Given the description of an element on the screen output the (x, y) to click on. 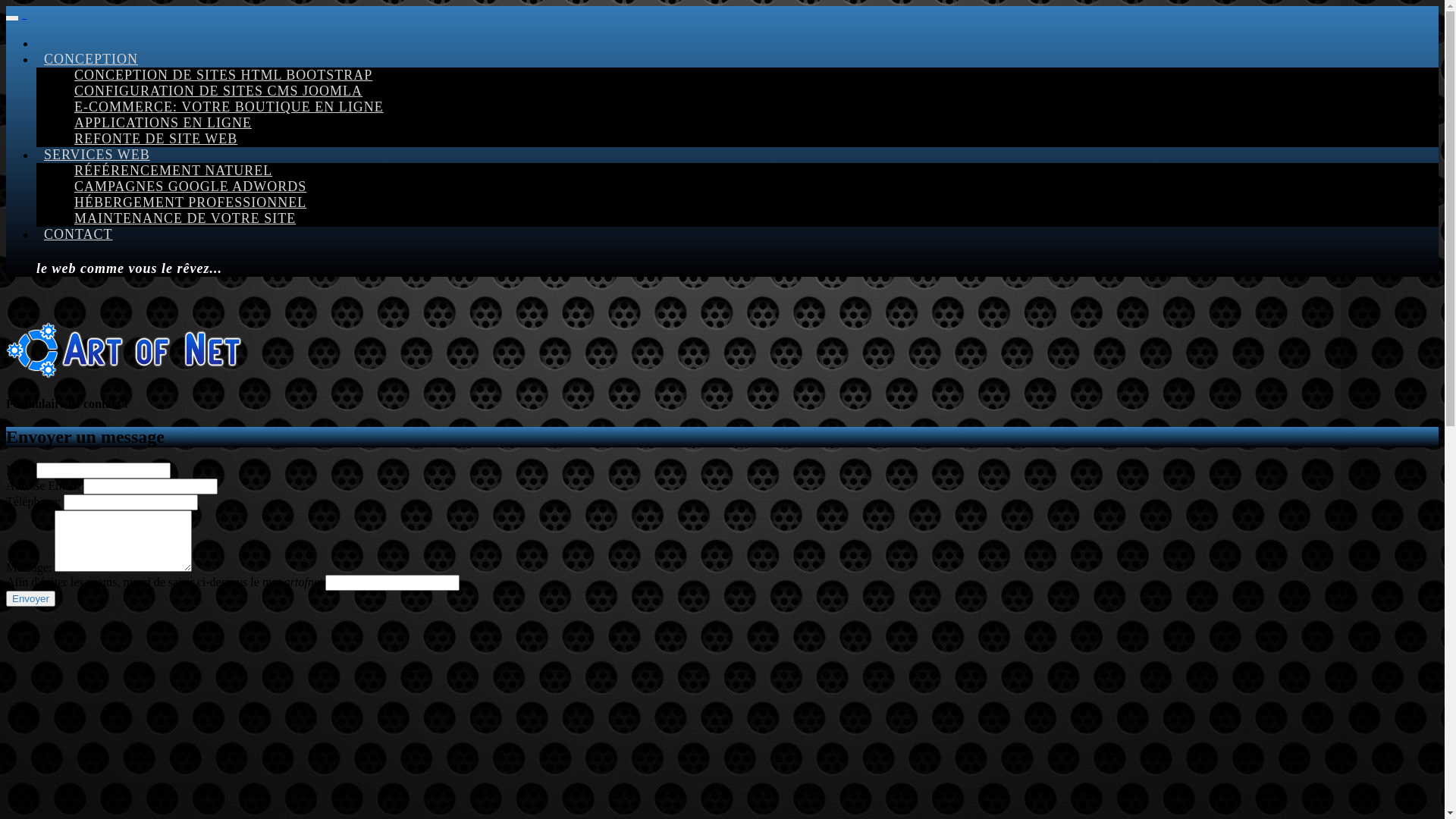
REFONTE DE SITE WEB Element type: text (155, 138)
MAINTENANCE DE VOTRE SITE Element type: text (185, 218)
APPLICATIONS EN LIGNE Element type: text (163, 122)
CONTACT Element type: text (78, 234)
SERVICES WEB Element type: text (96, 154)
CAMPAGNES GOOGLE ADWORDS Element type: text (190, 186)
CONCEPTION Element type: text (90, 59)
CONFIGURATION DE SITES CMS JOOMLA Element type: text (218, 90)
Envoyer Element type: text (30, 598)
CONCEPTION DE SITES HTML BOOTSTRAP Element type: text (223, 74)
E-COMMERCE: VOTRE BOUTIQUE EN LIGNE Element type: text (228, 106)
  Element type: text (24, 13)
